Given the description of an element on the screen output the (x, y) to click on. 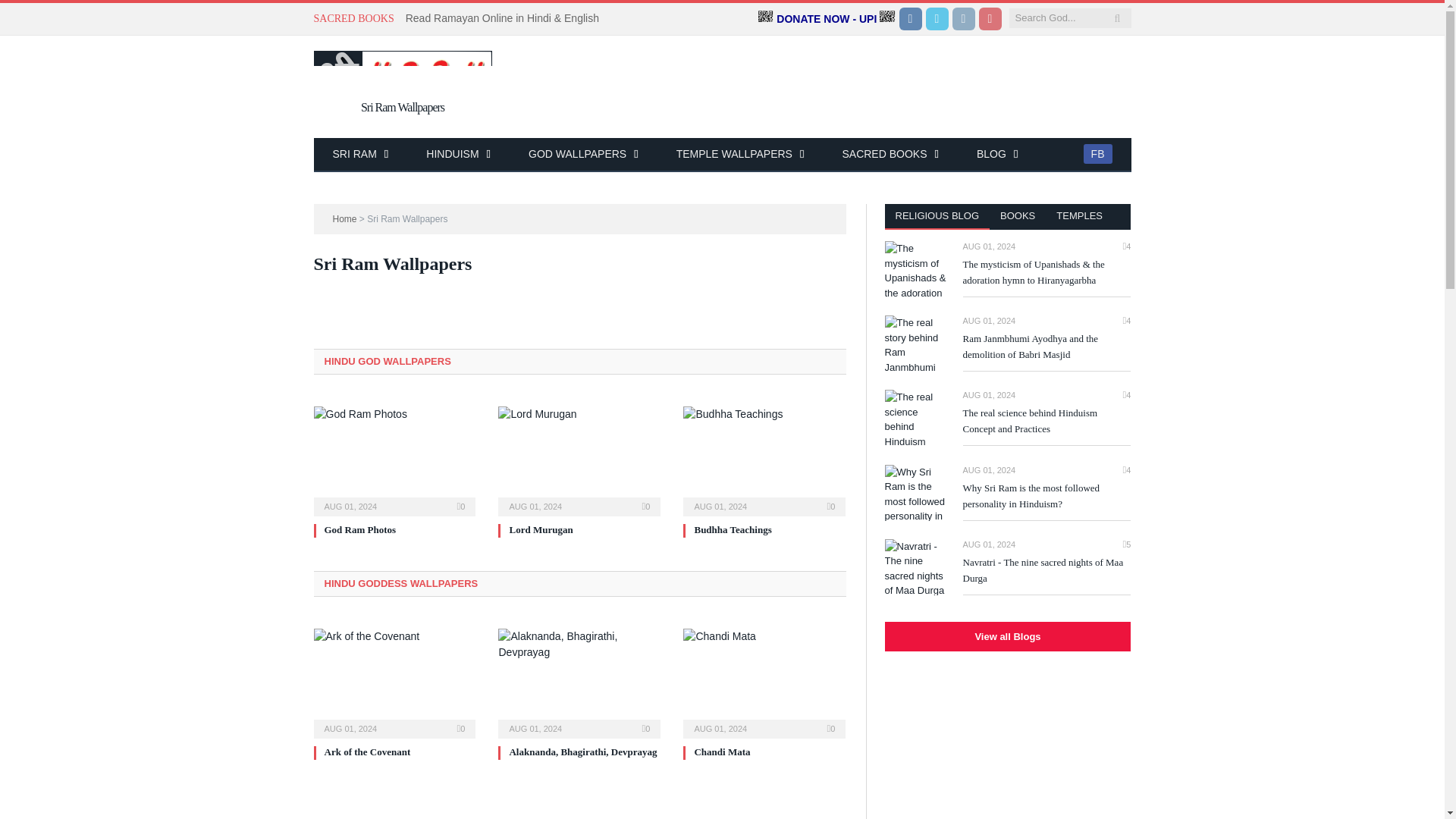
HINDUISM (458, 154)
DONATE NOW - UPI (826, 19)
Instagram (963, 18)
Jai Sri Ram (360, 154)
Donate Now (765, 17)
Twitter (935, 18)
Donate Now (887, 17)
Pinterest (989, 18)
Sri Ram Wallpapers (403, 73)
Sri Ram Wallpapers (403, 89)
Sri Ram Wallpapers (403, 89)
Facebook (910, 18)
SRI RAM (360, 154)
GOD WALLPAPERS (583, 154)
